Given the description of an element on the screen output the (x, y) to click on. 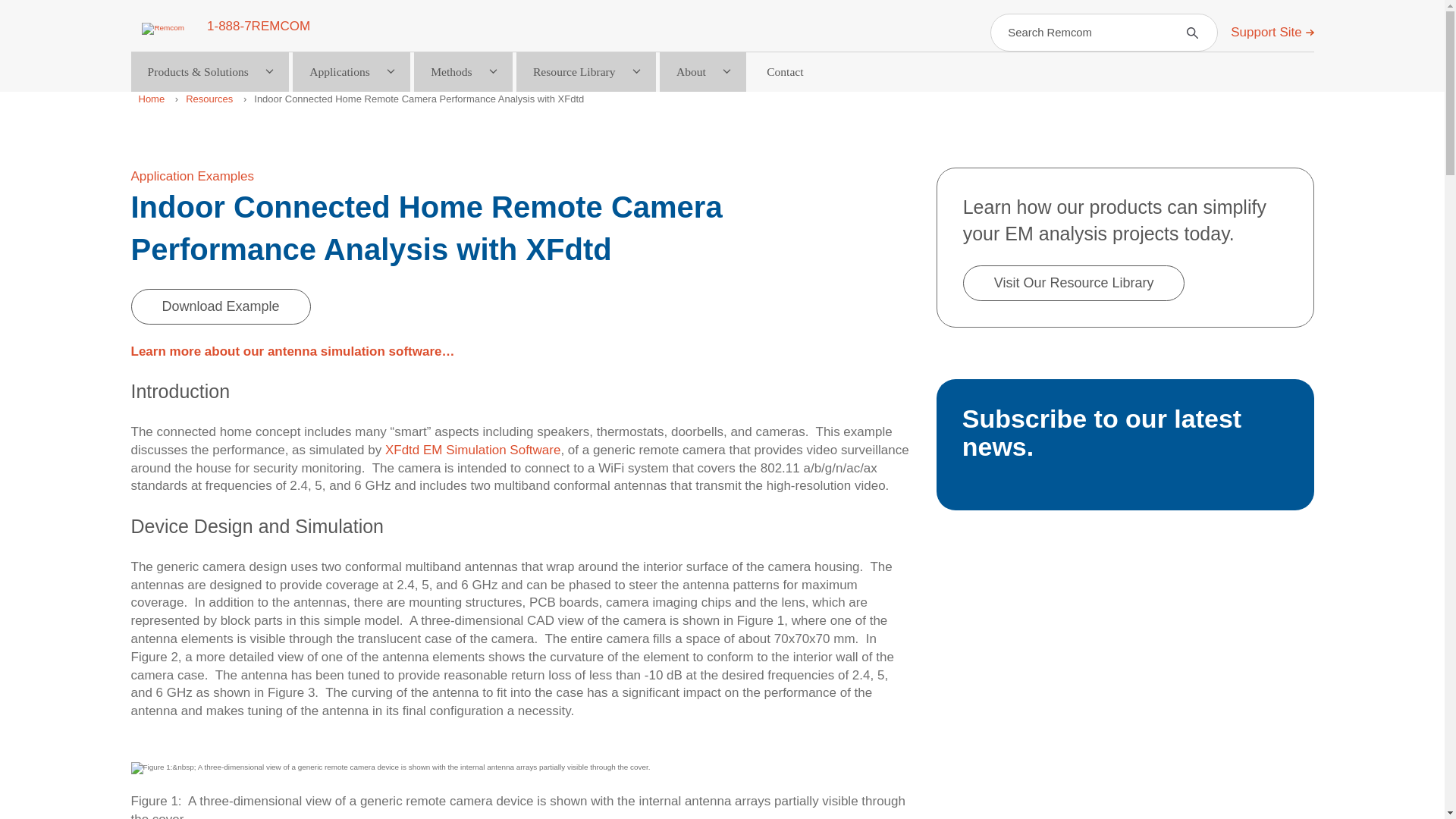
Support Site (1271, 32)
1-888-7REMCOM (258, 25)
Remcom (162, 28)
